Given the description of an element on the screen output the (x, y) to click on. 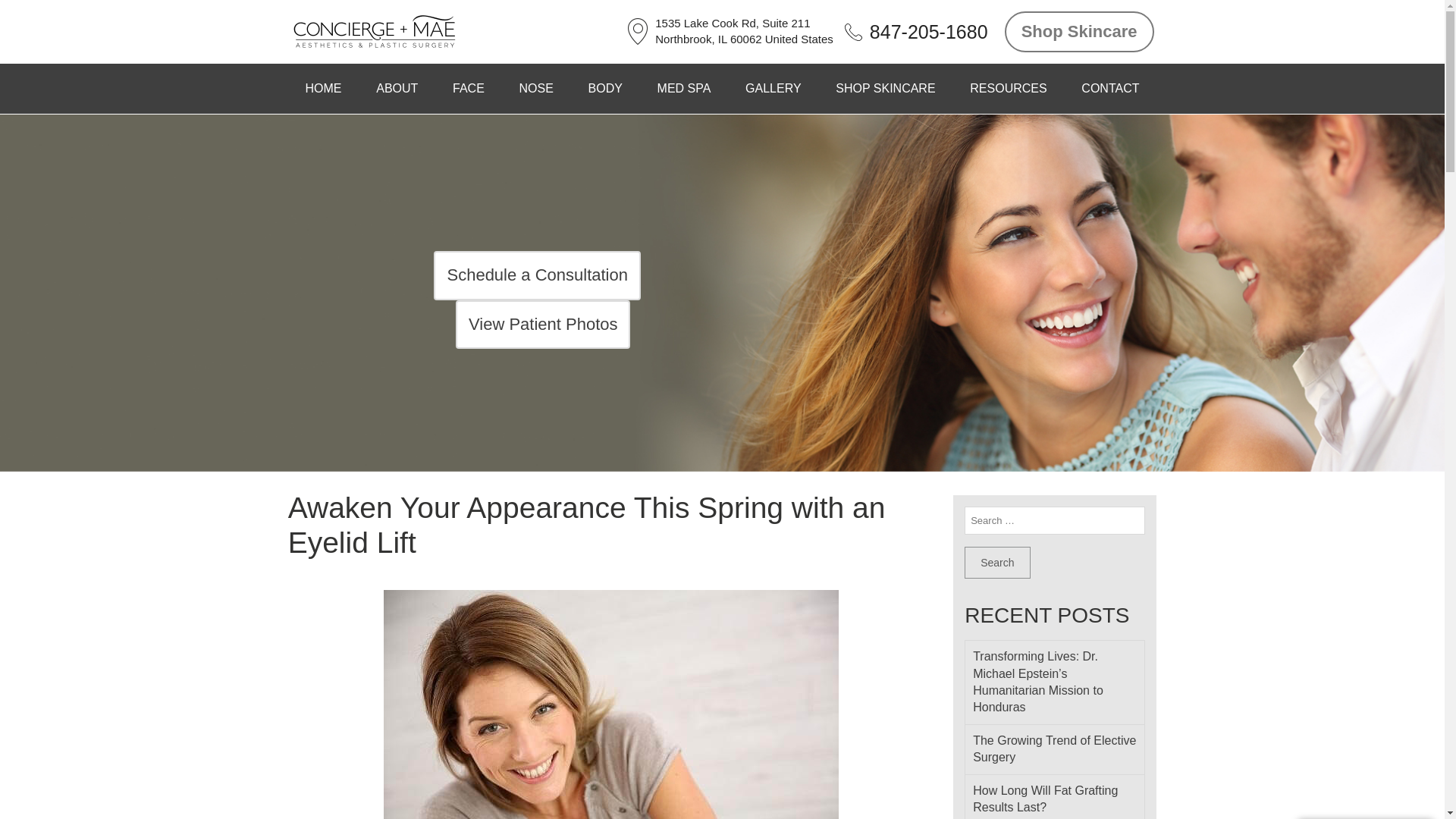
Search (996, 562)
Search (996, 562)
ABOUT (396, 88)
Shop Skincare (1079, 31)
FACE (467, 88)
BODY (605, 88)
NOSE (536, 88)
847-205-1680 (928, 31)
HOME (323, 88)
